Given the description of an element on the screen output the (x, y) to click on. 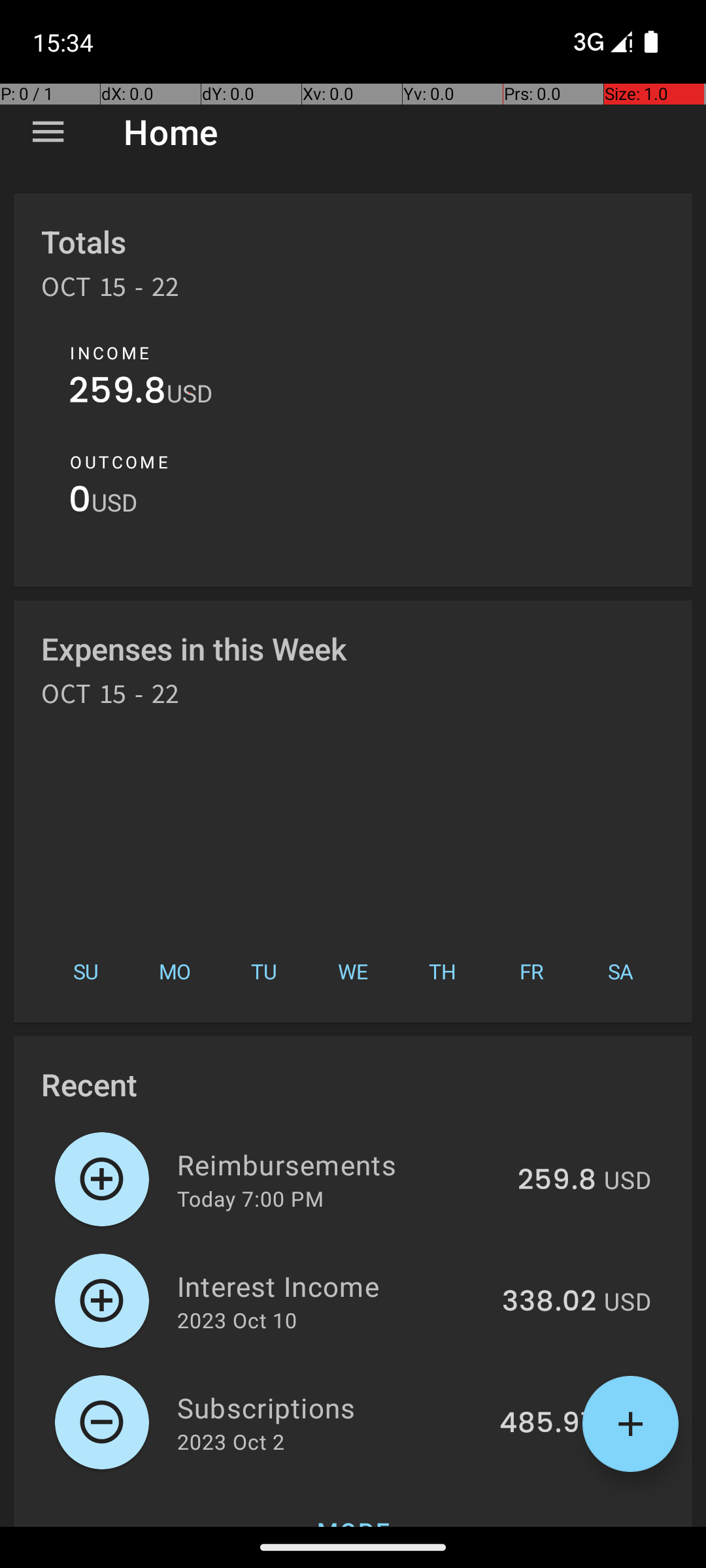
259.8 Element type: android.widget.TextView (117, 393)
Reimbursements Element type: android.widget.TextView (339, 1164)
338.02 Element type: android.widget.TextView (548, 1301)
2023 Oct 2 Element type: android.widget.TextView (230, 1441)
485.97 Element type: android.widget.TextView (547, 1423)
